Given the description of an element on the screen output the (x, y) to click on. 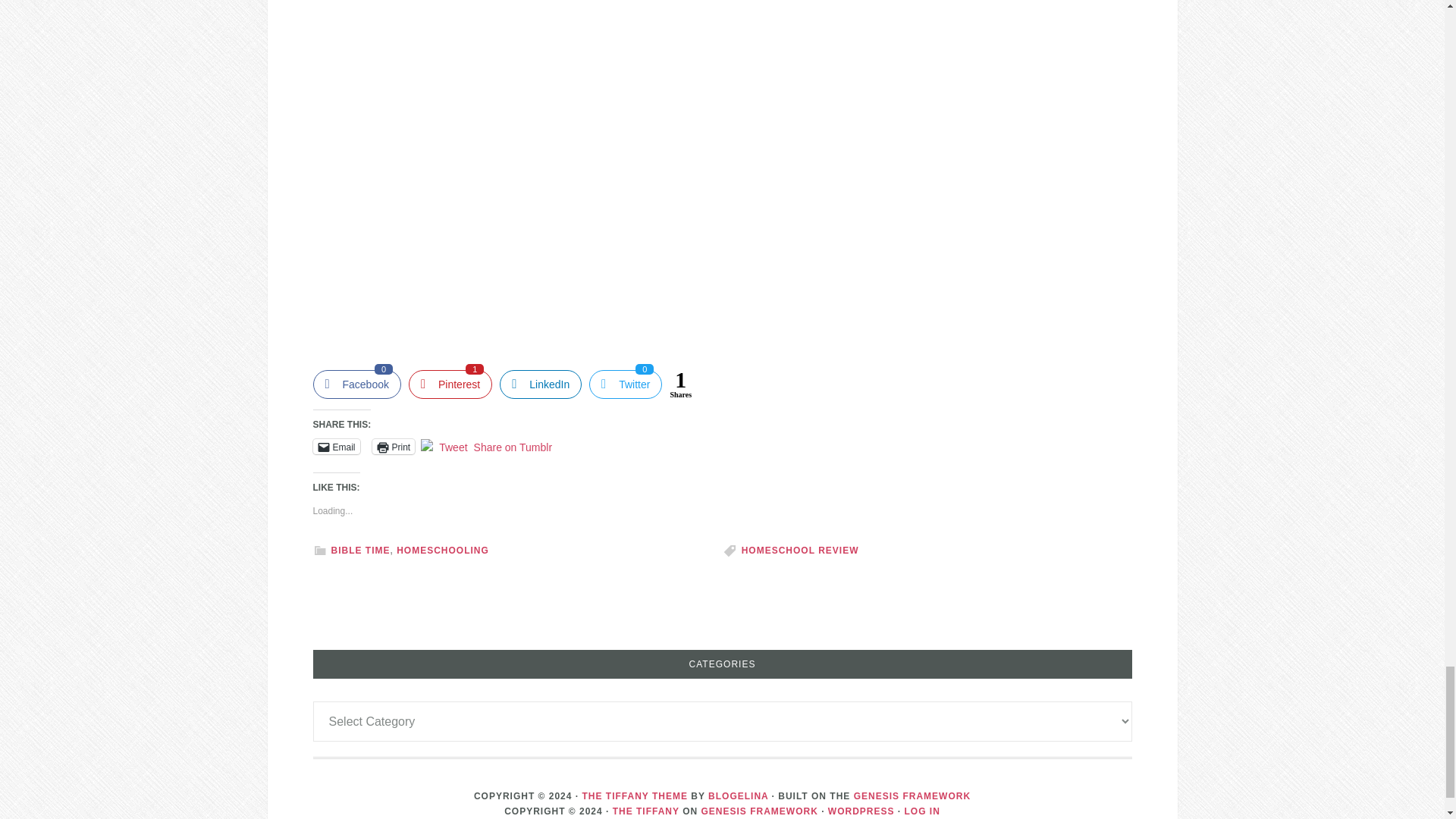
Tweet (453, 445)
Share on Tumblr (513, 445)
Share on Tumblr (513, 445)
Click to print (450, 384)
THE TIFFANY (393, 446)
LinkedIn (645, 810)
BIBLE TIME (539, 384)
Genesis Framework (356, 384)
LOG IN (360, 550)
Email (912, 796)
BLOGELINA (922, 810)
GENESIS FRAMEWORK (336, 446)
HOMESCHOOLING (737, 796)
